Given the description of an element on the screen output the (x, y) to click on. 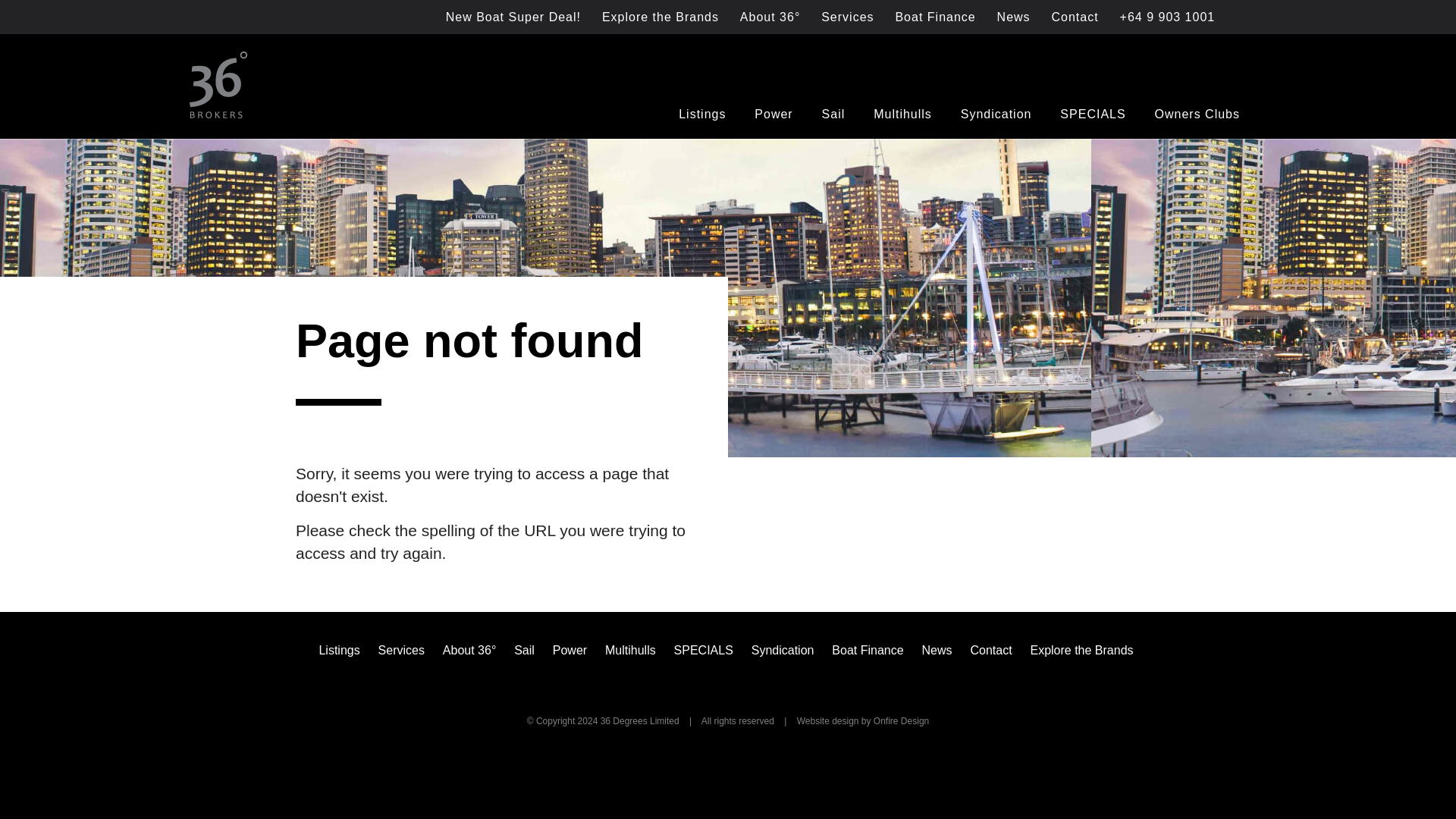
Services (847, 17)
Power (773, 114)
Boat Finance (934, 17)
New Boat Super Deal! (512, 17)
Contact (1075, 17)
News (1013, 17)
Explore the Brands (660, 17)
Listings (701, 114)
